Given the description of an element on the screen output the (x, y) to click on. 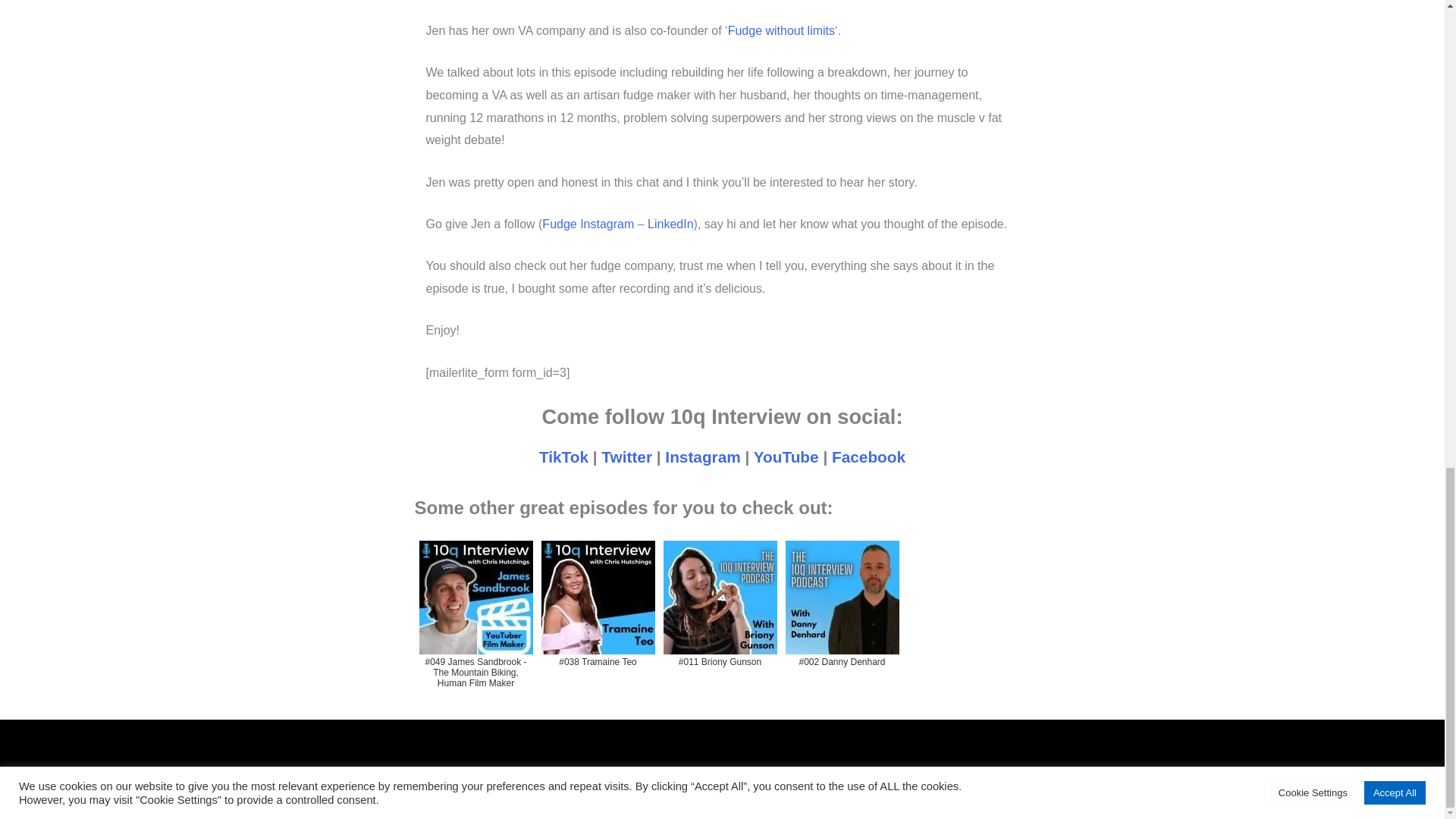
Twitter (626, 456)
Fudge without limits (781, 30)
Instagram (702, 456)
Hutch Media Group Ltd. (604, 775)
Fudge Instagram (587, 223)
Facebook (868, 456)
Privacy Policy (869, 775)
YouTube (786, 456)
TikTok (563, 456)
LinkedIn (670, 223)
